Given the description of an element on the screen output the (x, y) to click on. 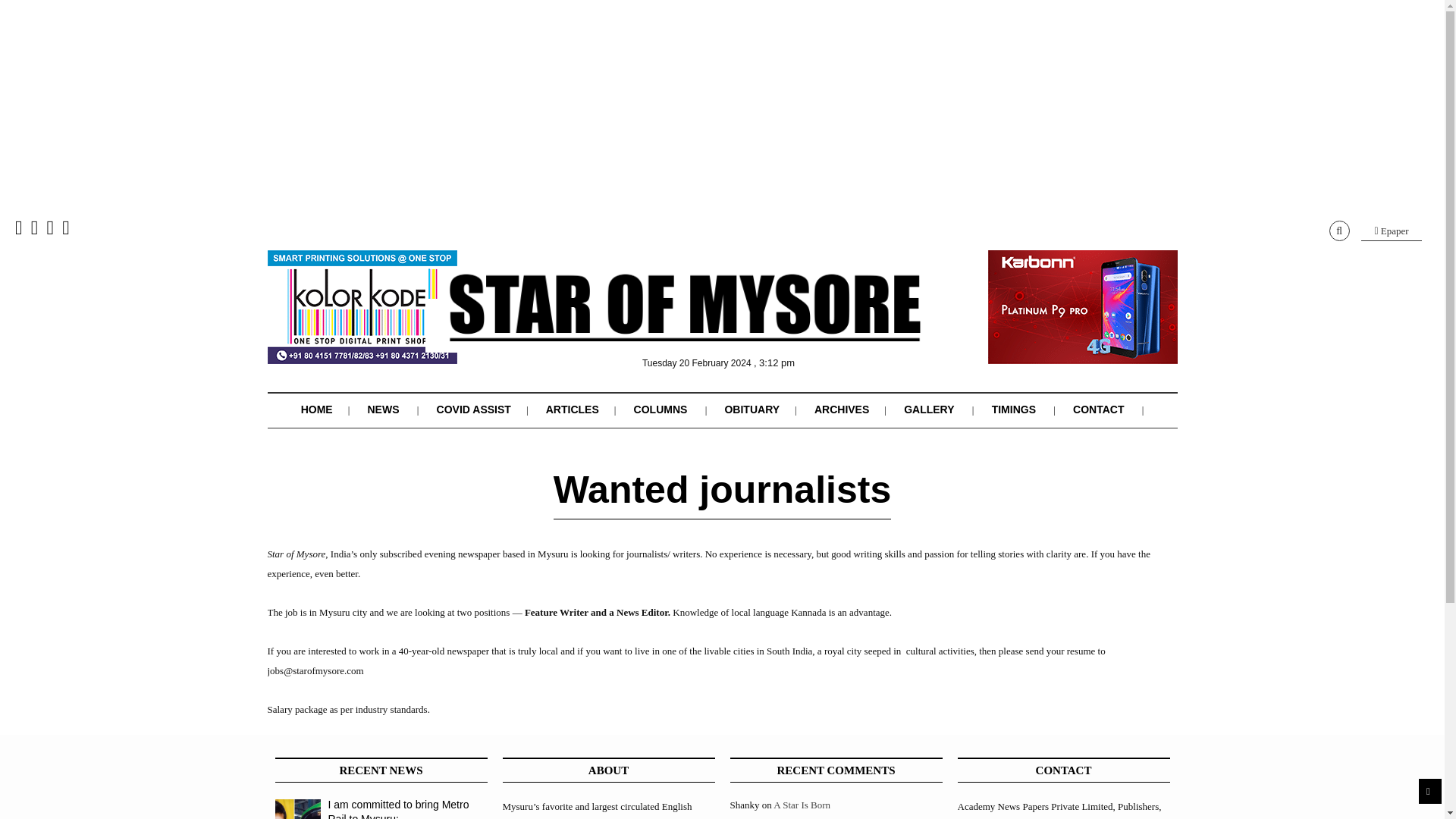
Youtube (65, 230)
Star of Mysore (684, 325)
Epaper (1391, 230)
